Given the description of an element on the screen output the (x, y) to click on. 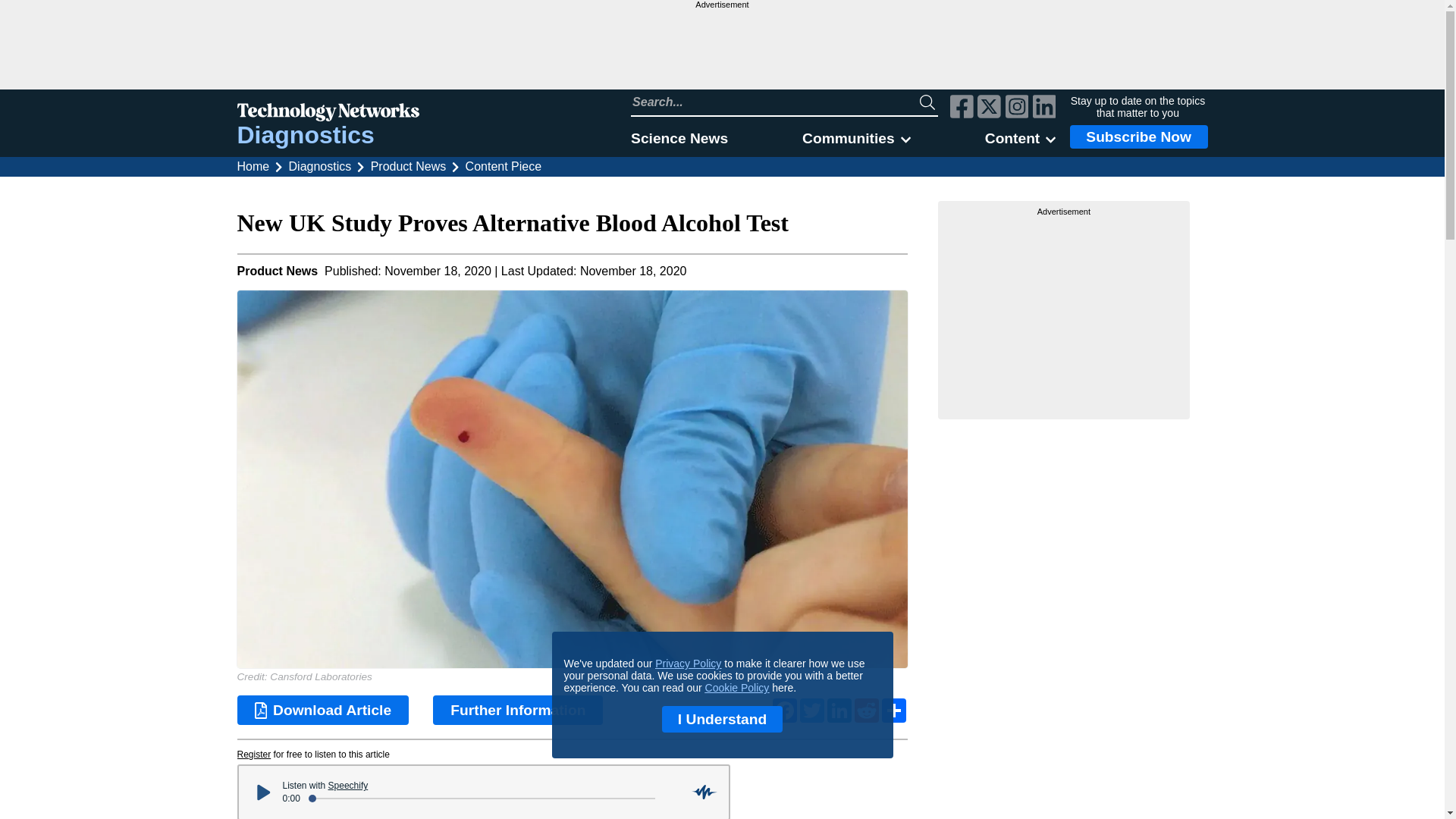
Cookie Policy (737, 687)
Technology Networks logo (327, 113)
Privacy Policy (687, 663)
I Understand (722, 718)
Search Technology Networks website input field (775, 102)
3rd party ad content (721, 49)
3rd party ad content (1063, 312)
